Given the description of an element on the screen output the (x, y) to click on. 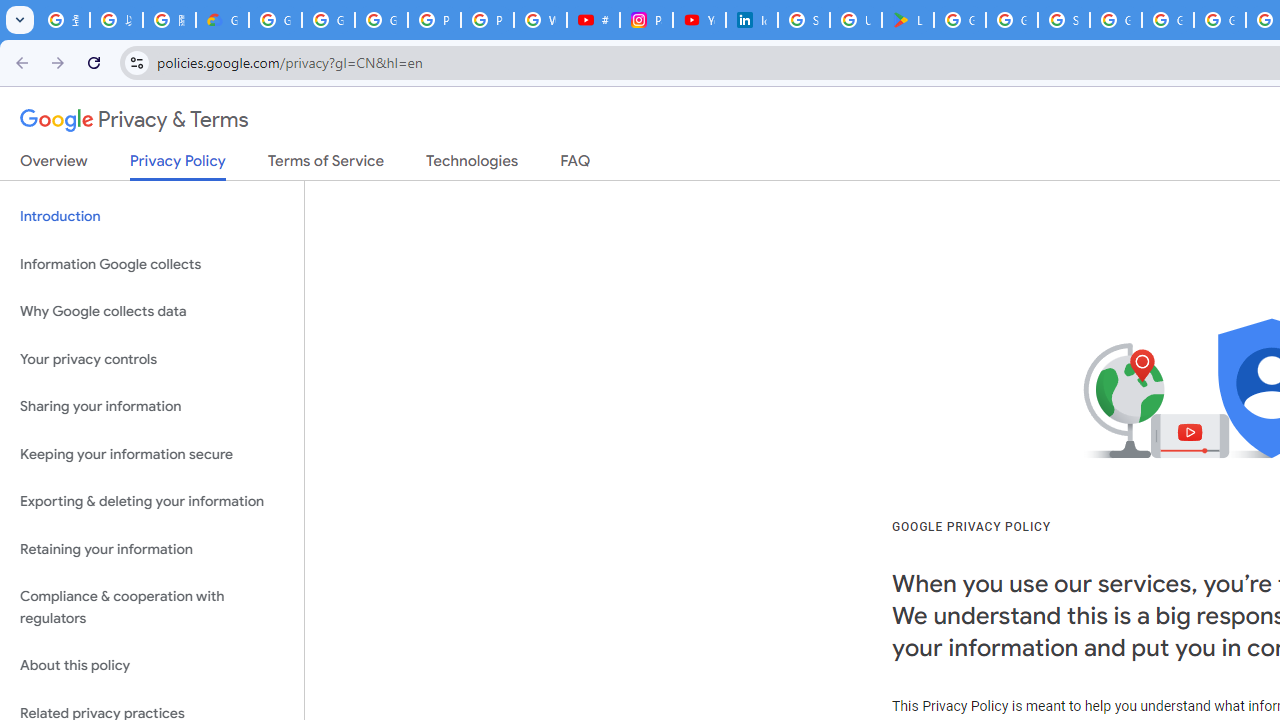
YouTube Culture & Trends - On The Rise: Handcam Videos (699, 20)
Last Shelter: Survival - Apps on Google Play (907, 20)
Google Cloud Platform (1167, 20)
Keeping your information secure (152, 453)
Retaining your information (152, 548)
Exporting & deleting your information (152, 502)
